Given the description of an element on the screen output the (x, y) to click on. 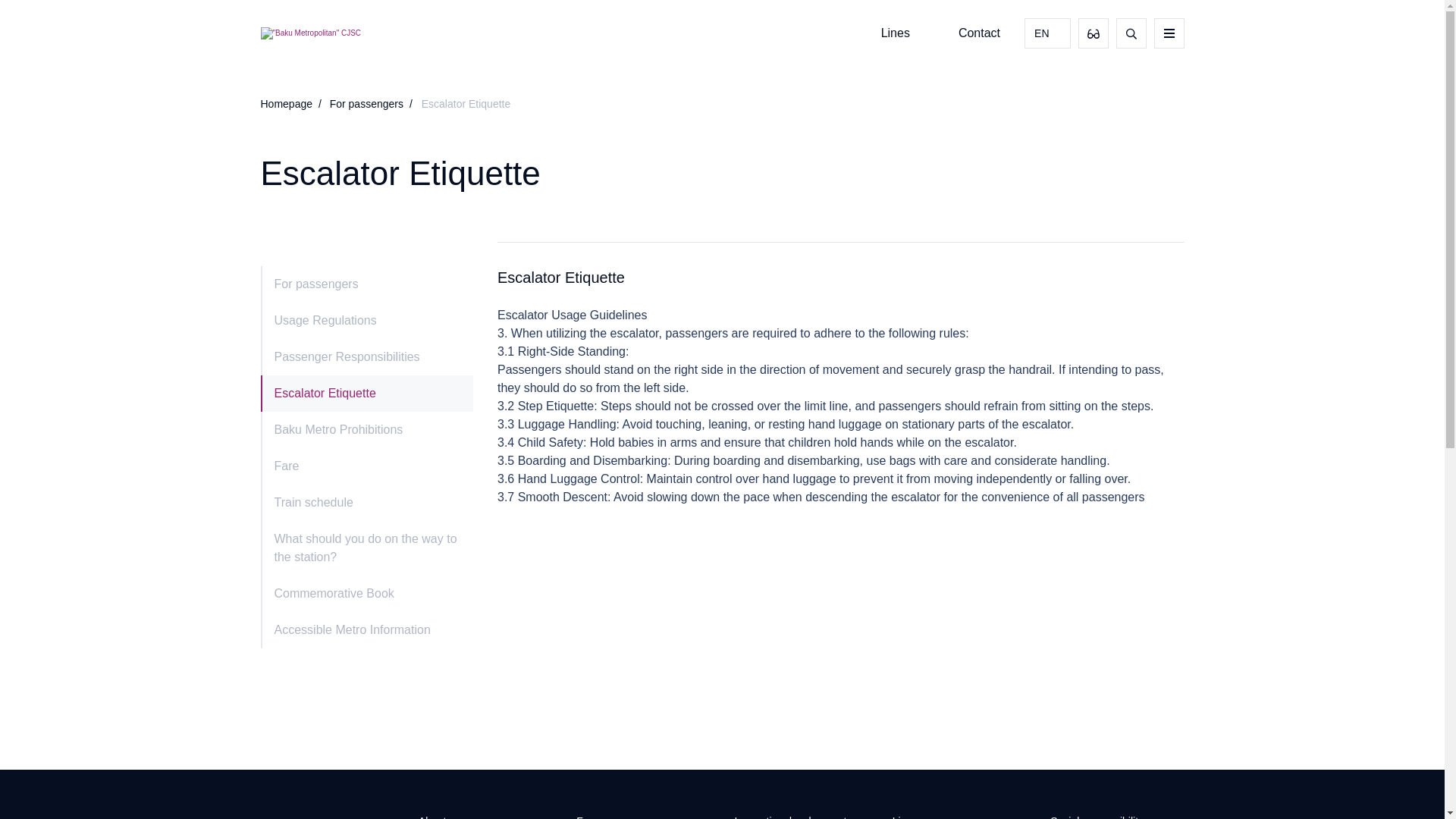
EN (1047, 33)
Lines (895, 32)
Contact (979, 32)
